Given the description of an element on the screen output the (x, y) to click on. 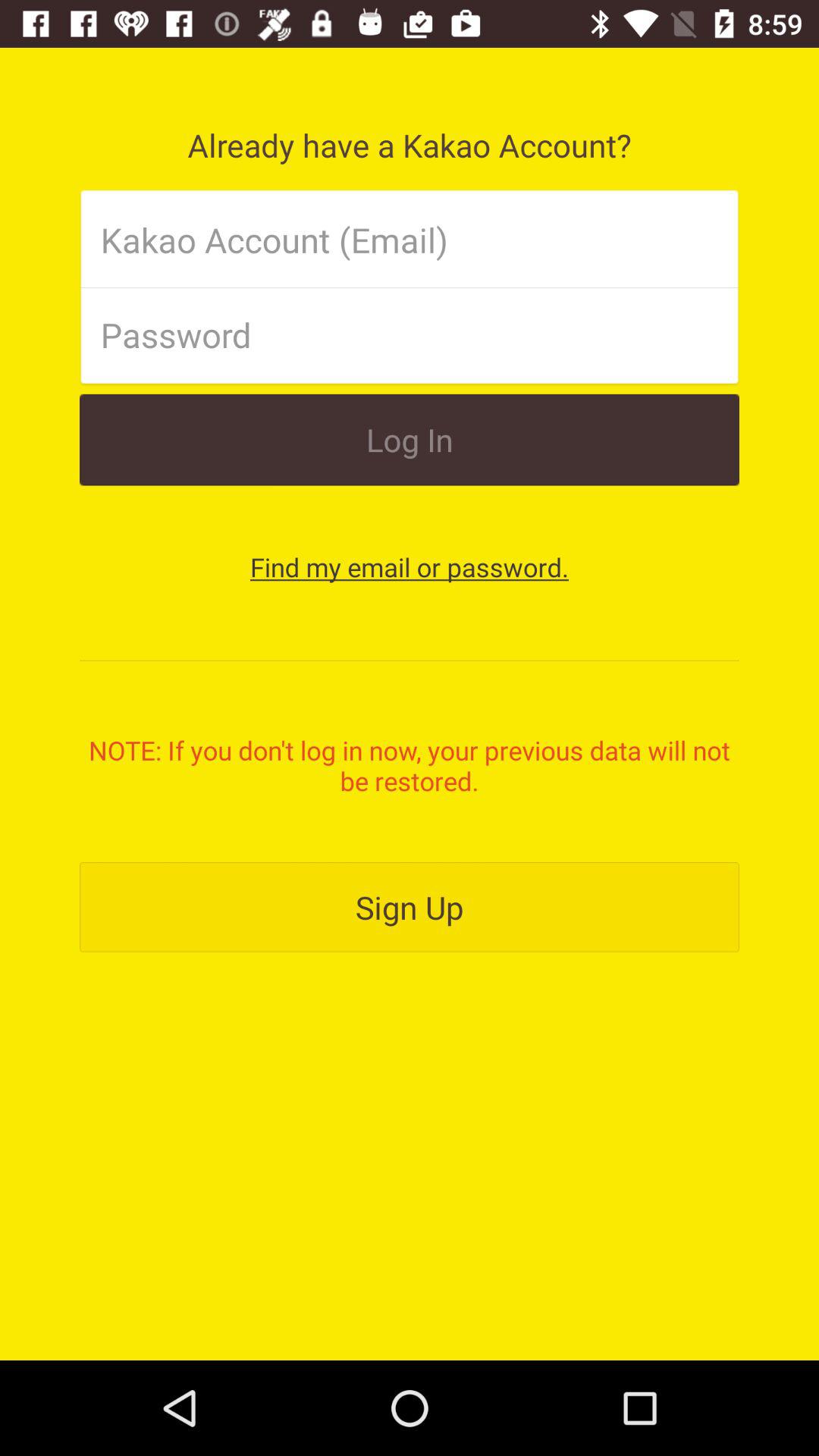
scroll until the sign up item (409, 907)
